Given the description of an element on the screen output the (x, y) to click on. 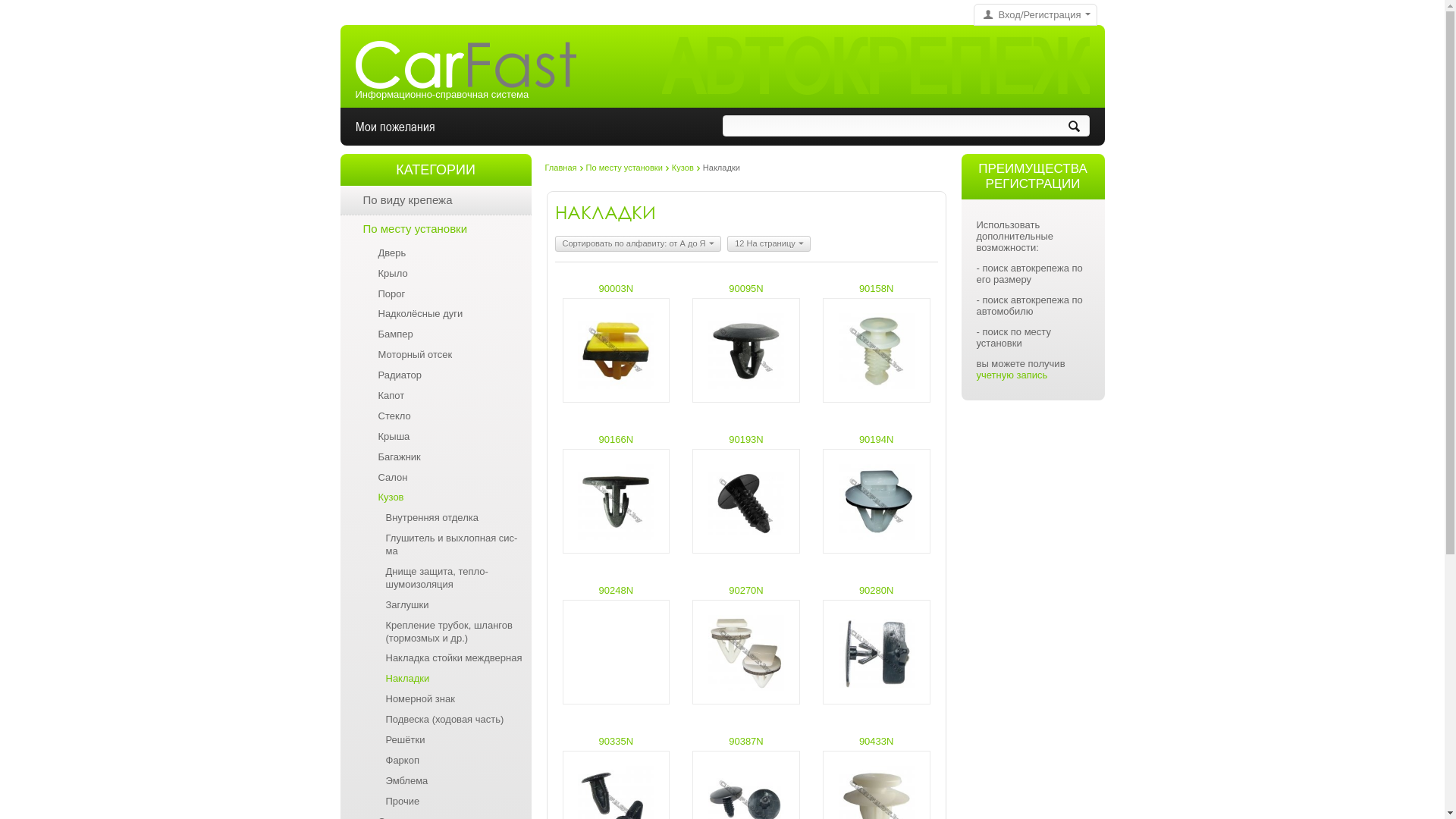
90166N Element type: text (616, 439)
90003N Element type: text (616, 288)
90194N Element type: text (876, 439)
90095N Element type: text (745, 288)
90248N Element type: text (616, 590)
90270N Element type: text (745, 590)
90158N Element type: text (876, 288)
90280N Element type: text (876, 590)
90193N Element type: text (745, 439)
90335N Element type: text (616, 741)
90387N Element type: text (745, 741)
90433N Element type: text (876, 741)
